Given the description of an element on the screen output the (x, y) to click on. 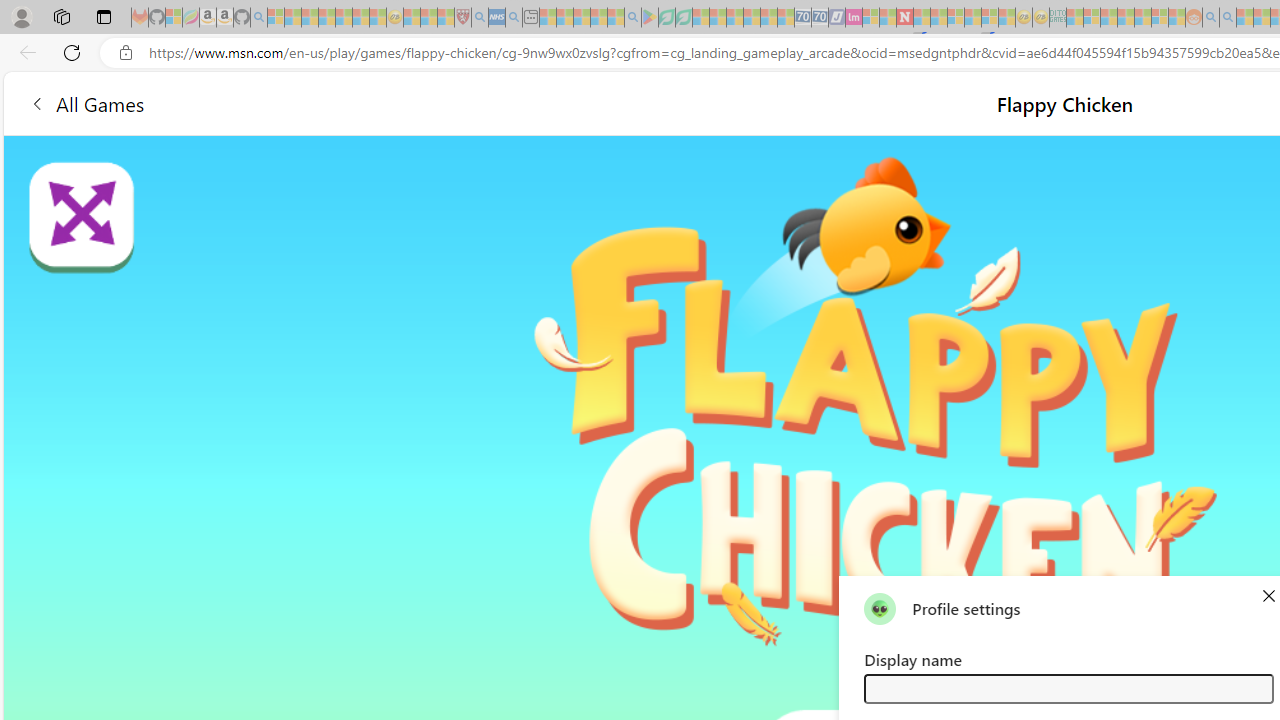
All Games (373, 102)
All Games (86, 102)
